Given the description of an element on the screen output the (x, y) to click on. 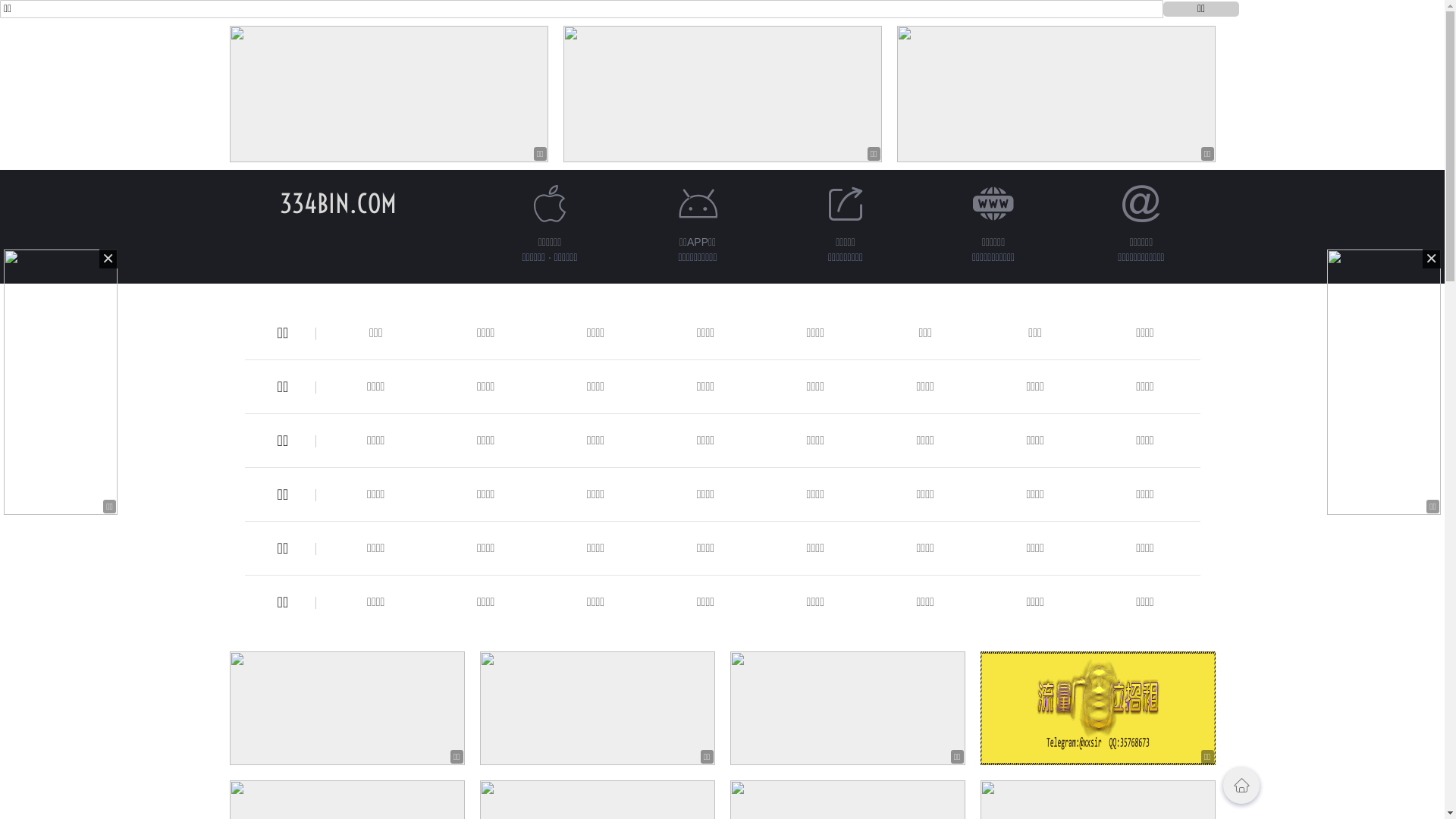
334BIN.COM Element type: text (337, 203)
